Given the description of an element on the screen output the (x, y) to click on. 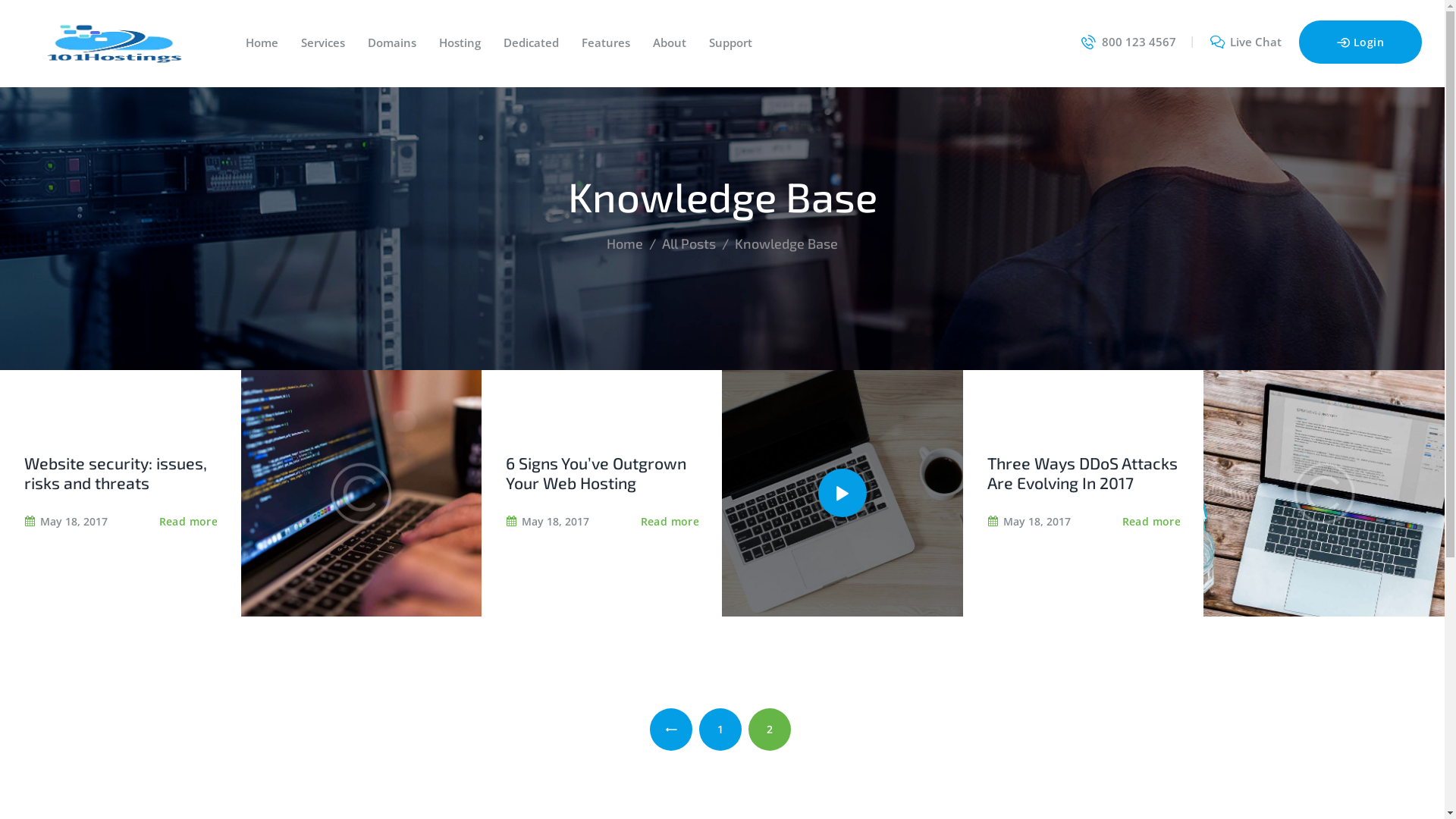
May 18, 2017 Element type: text (65, 521)
Read more Element type: text (1151, 521)
Three Ways DDoS Attacks Are Evolving In 2017 Element type: text (1083, 472)
Support Element type: text (730, 42)
PAGE
1 Element type: text (720, 729)
Read more Element type: text (669, 521)
< Element type: text (670, 729)
Dedicated Element type: text (531, 42)
All Posts Element type: text (688, 243)
Domains Element type: text (391, 42)
Home Element type: text (624, 243)
Hosting Element type: text (459, 42)
Website security: issues, risks and threats Element type: text (120, 472)
Live Chat Element type: text (1246, 42)
May 18, 2017 Element type: text (1028, 521)
Login Element type: text (1359, 41)
Features Element type: text (605, 42)
Services Element type: text (322, 42)
Home Element type: text (261, 42)
About Element type: text (669, 42)
Read more Element type: text (188, 521)
May 18, 2017 Element type: text (547, 521)
800 123 4567 Element type: text (1128, 42)
